Given the description of an element on the screen output the (x, y) to click on. 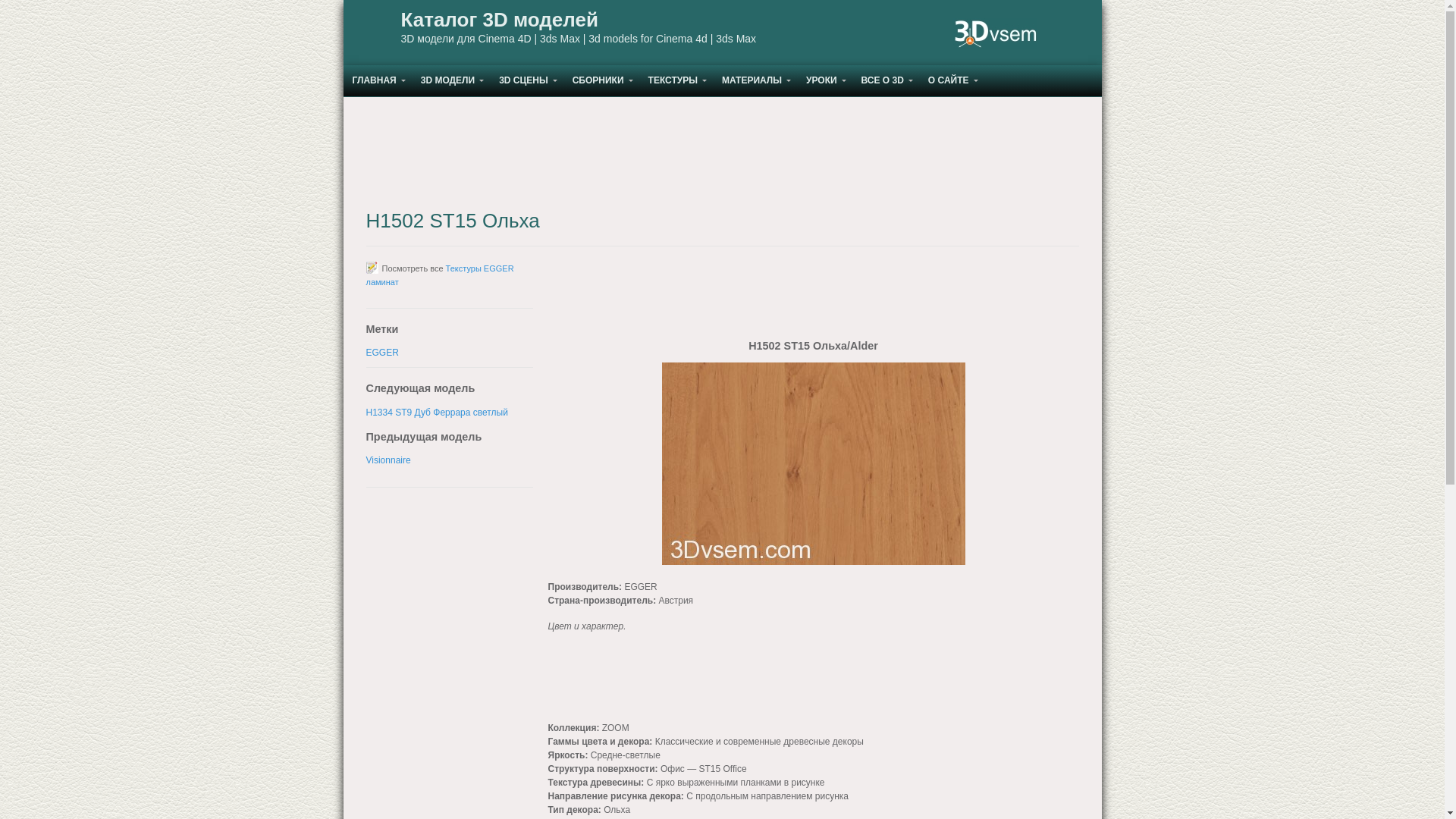
EGGER Element type: text (381, 352)
Advertisement Element type: hover (668, 683)
Advertisement Element type: hover (721, 153)
Visionnaire Element type: text (387, 460)
Advertisement Element type: hover (812, 300)
